Given the description of an element on the screen output the (x, y) to click on. 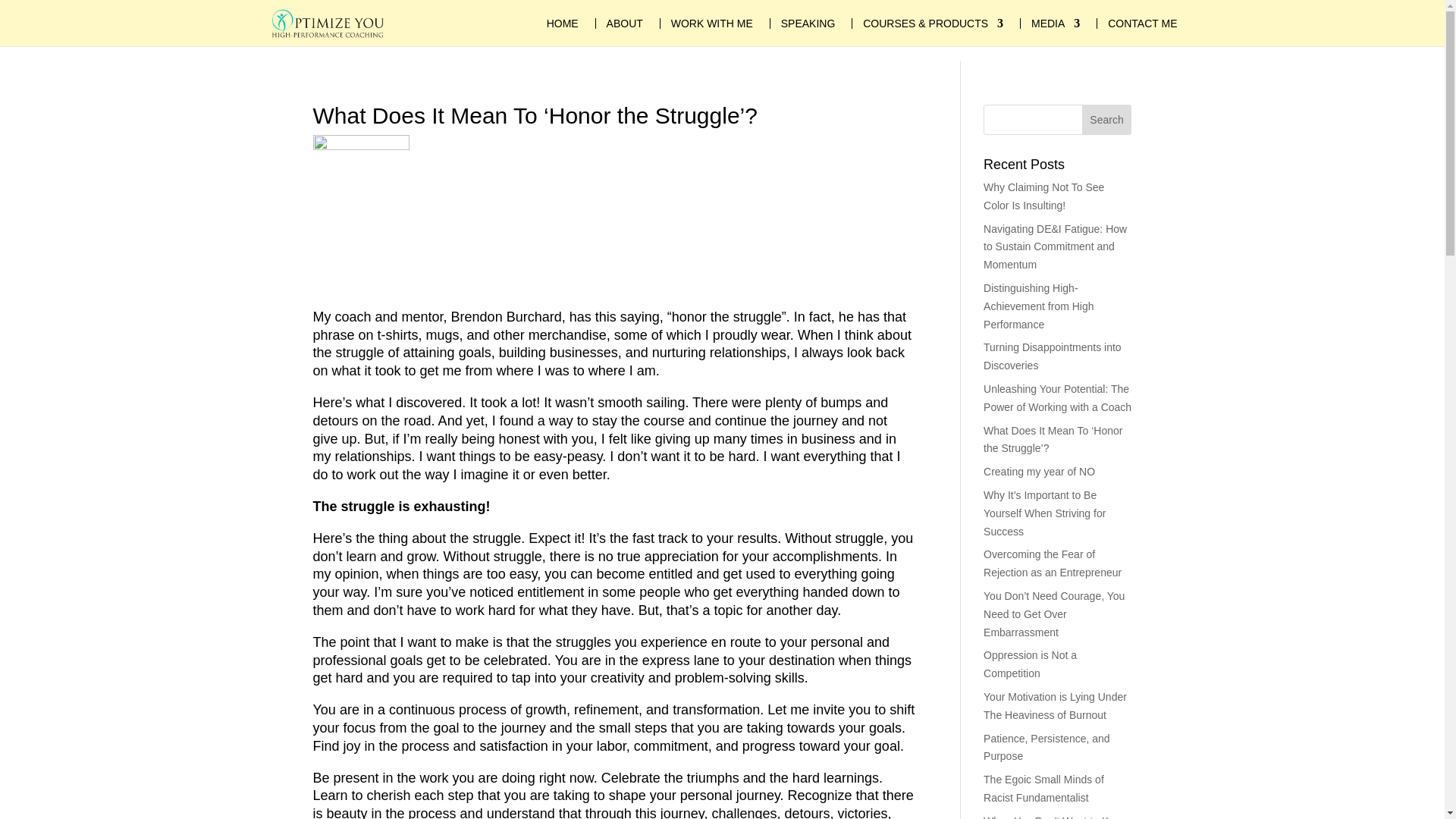
HOME (562, 23)
MEDIA (1055, 23)
Why Claiming Not To See Color Is Insulting! (1043, 195)
Overcoming the Fear of Rejection as an Entrepreneur (1052, 562)
ABOUT (625, 23)
Distinguishing High-Achievement from High Performance (1039, 305)
Oppression is Not a Competition (1030, 664)
Unleashing Your Potential: The Power of Working with a Coach (1057, 398)
Search (1106, 119)
SPEAKING (807, 23)
